Given the description of an element on the screen output the (x, y) to click on. 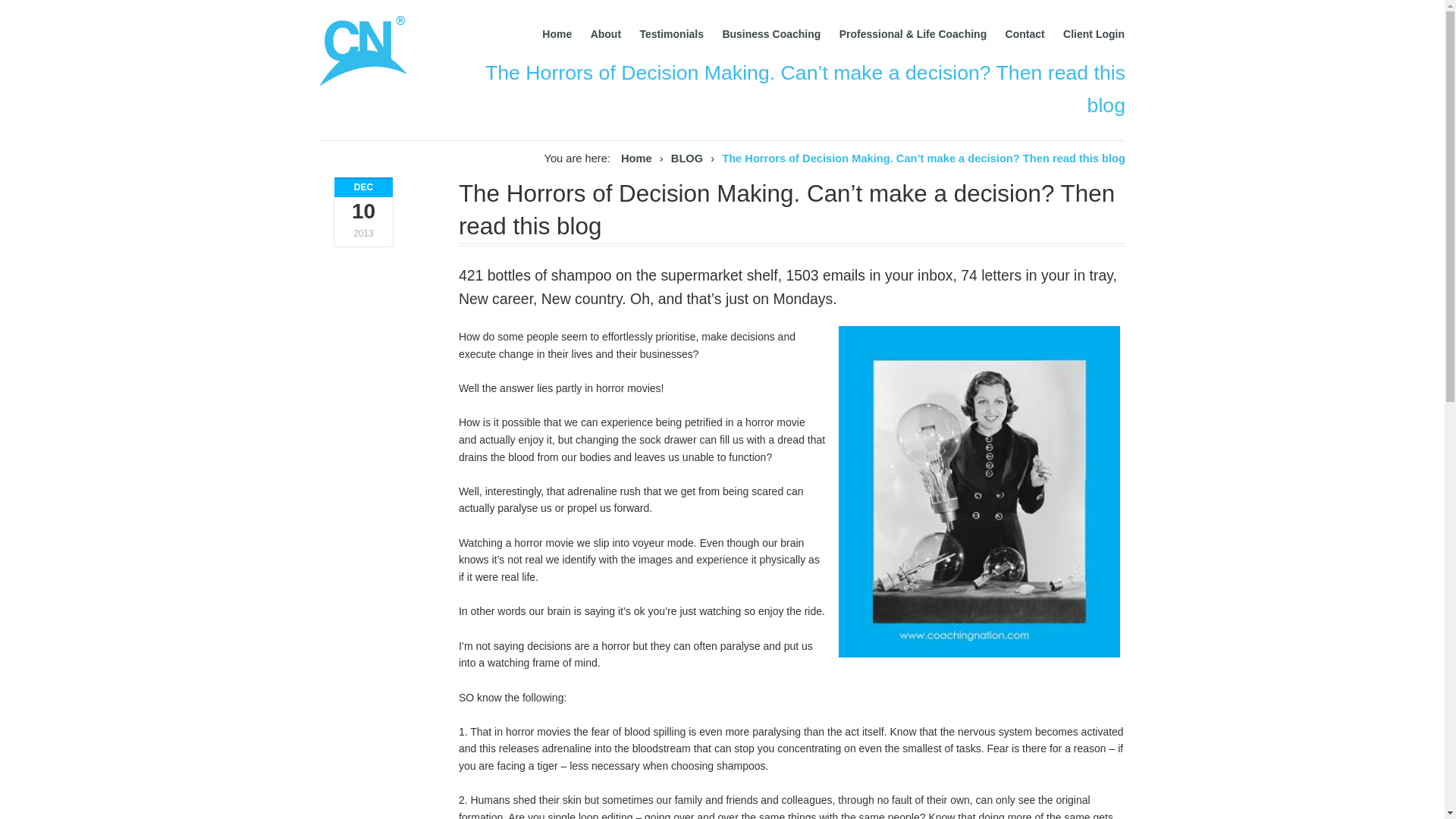
Business Coaching (762, 33)
Client Login (1085, 33)
Home (636, 158)
Coaching Nation (636, 158)
View BLOG (687, 158)
BLOG (687, 158)
Contact (1016, 33)
About (596, 33)
Testimonials (662, 33)
Home (548, 33)
